Given the description of an element on the screen output the (x, y) to click on. 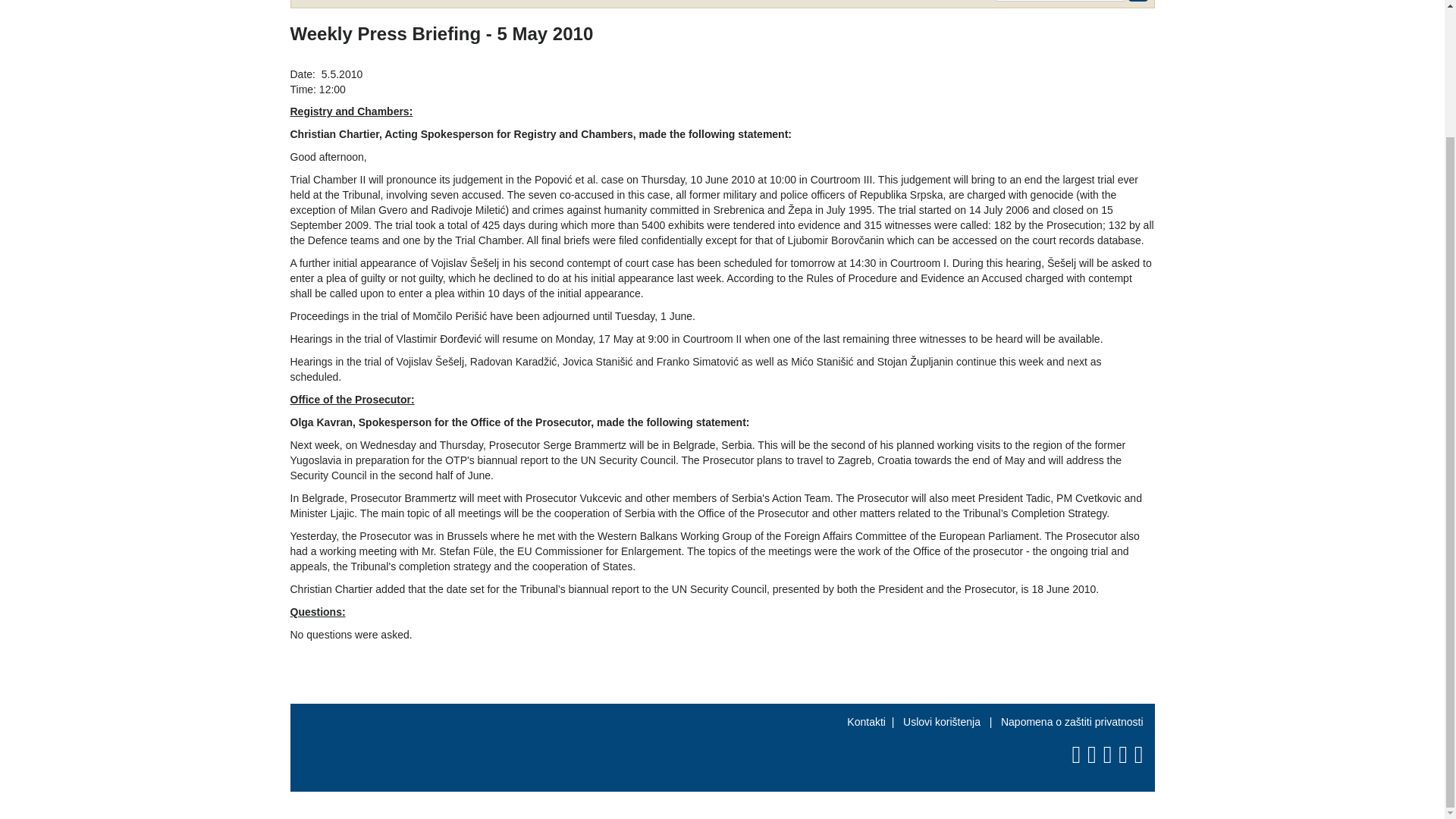
PREDMETI (394, 2)
O MKSJ (326, 2)
OUTREACH (615, 2)
DOKUMENTI (474, 2)
IZDVAJAMO (698, 2)
Kontakti (866, 721)
MEDIJI (546, 2)
